Given the description of an element on the screen output the (x, y) to click on. 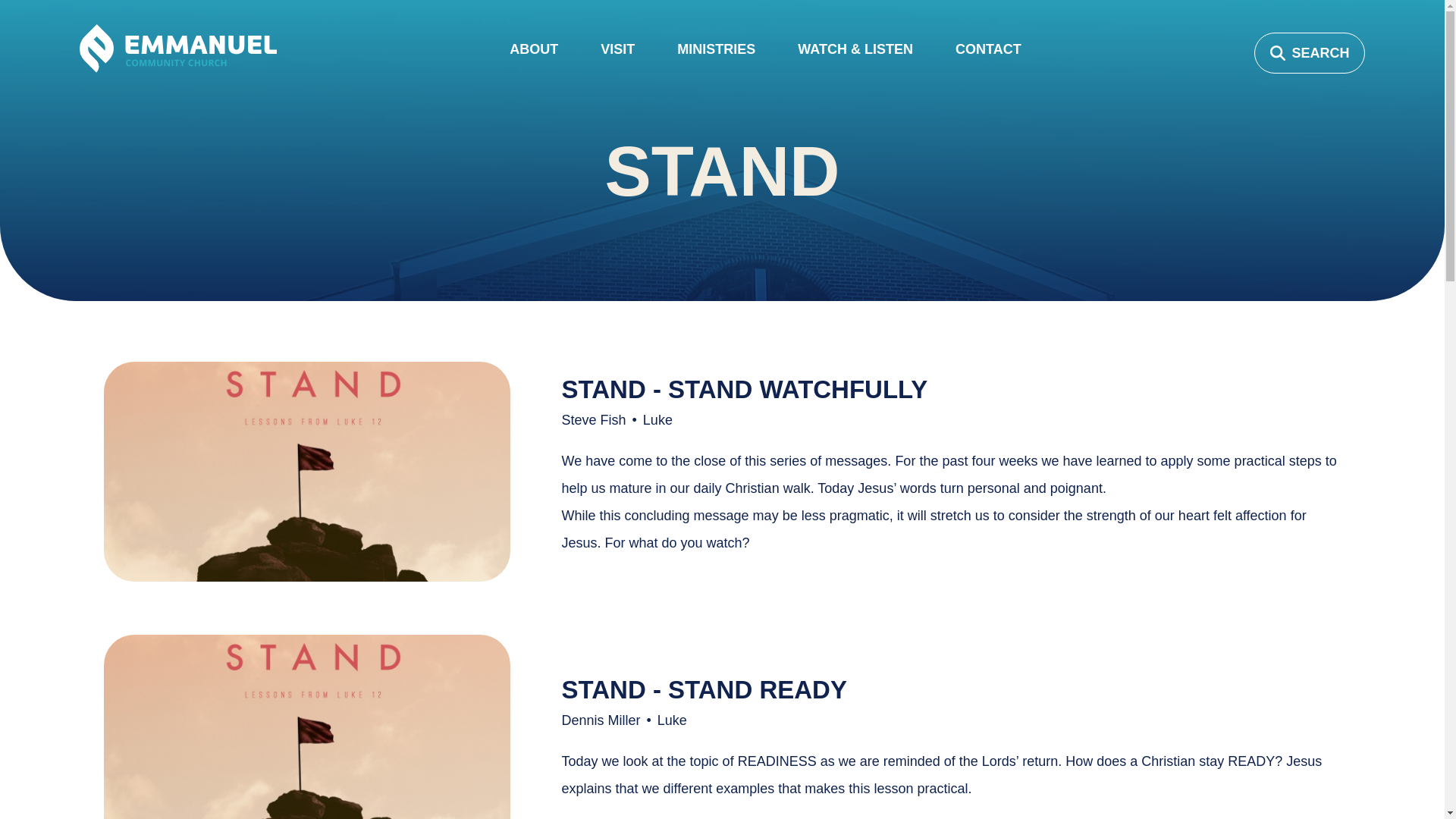
ABOUT (533, 56)
SEARCH (1309, 52)
STAND - STAND WATCHFULLY (743, 389)
CONTACT (988, 56)
STAND - STAND READY (702, 689)
VISIT (617, 56)
MINISTRIES (716, 56)
